Given the description of an element on the screen output the (x, y) to click on. 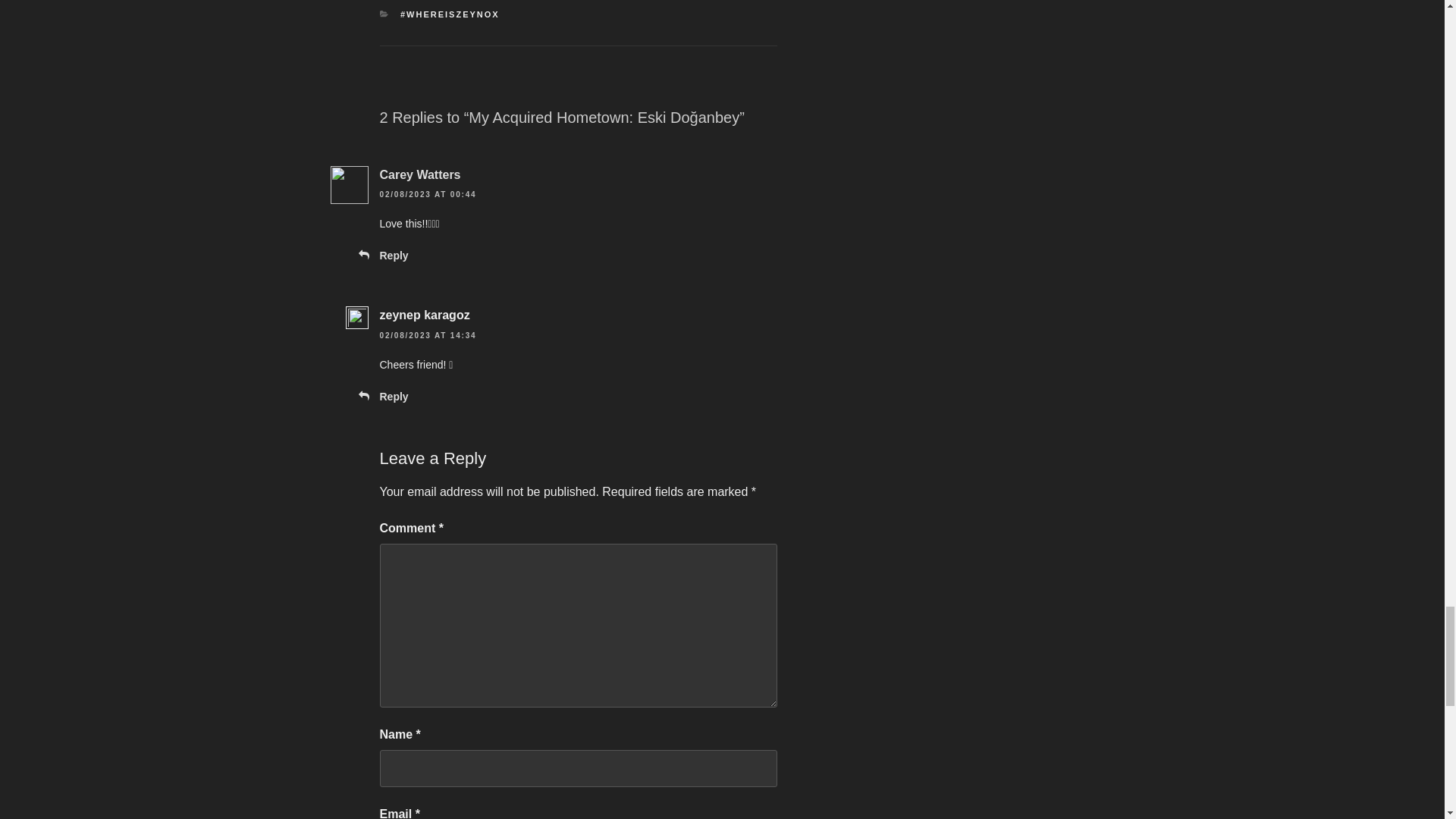
Reply (392, 255)
Carey Watters (419, 174)
Reply (392, 396)
